Given the description of an element on the screen output the (x, y) to click on. 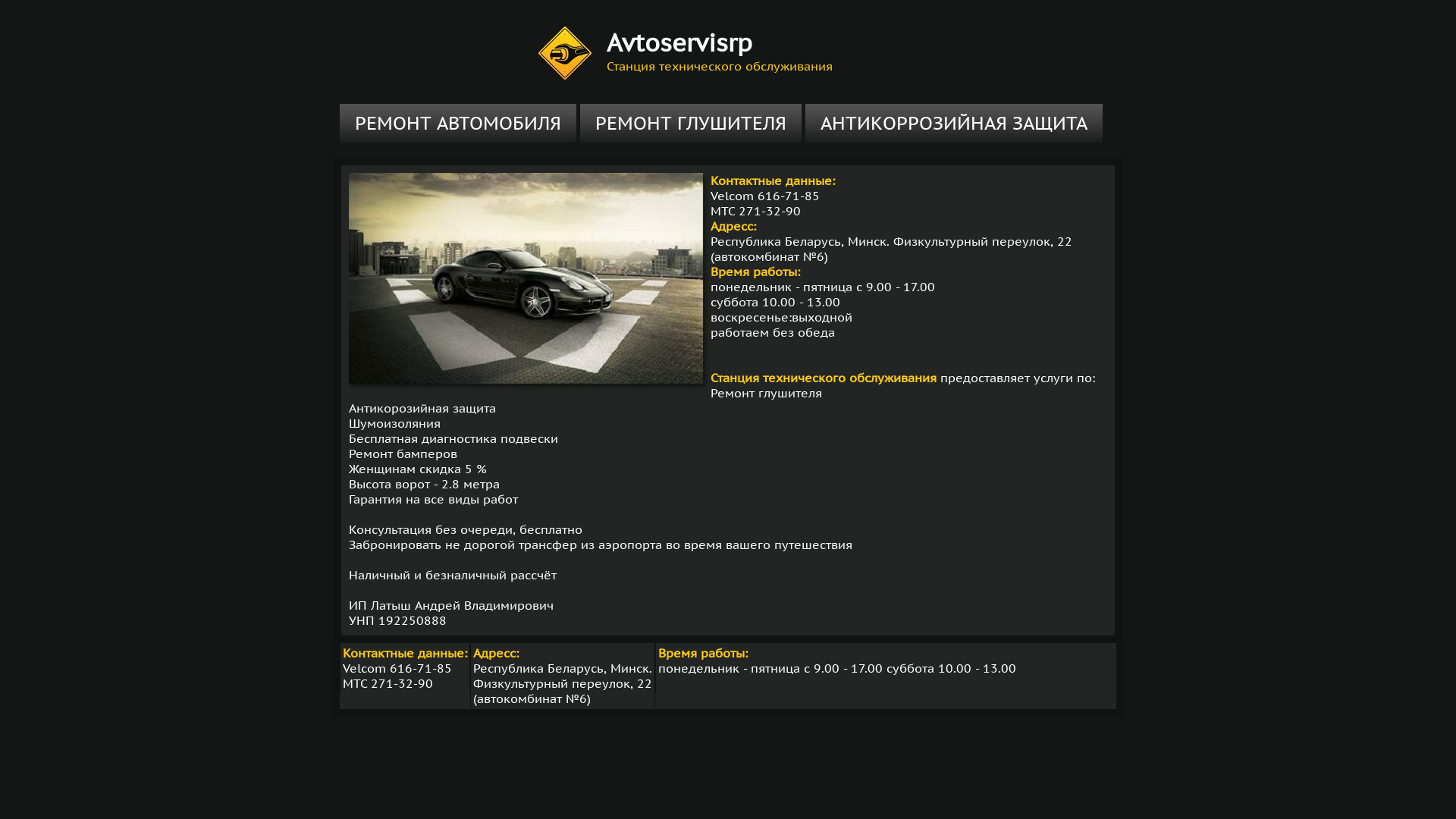
Avtoservisrp Element type: text (679, 42)
